Given the description of an element on the screen output the (x, y) to click on. 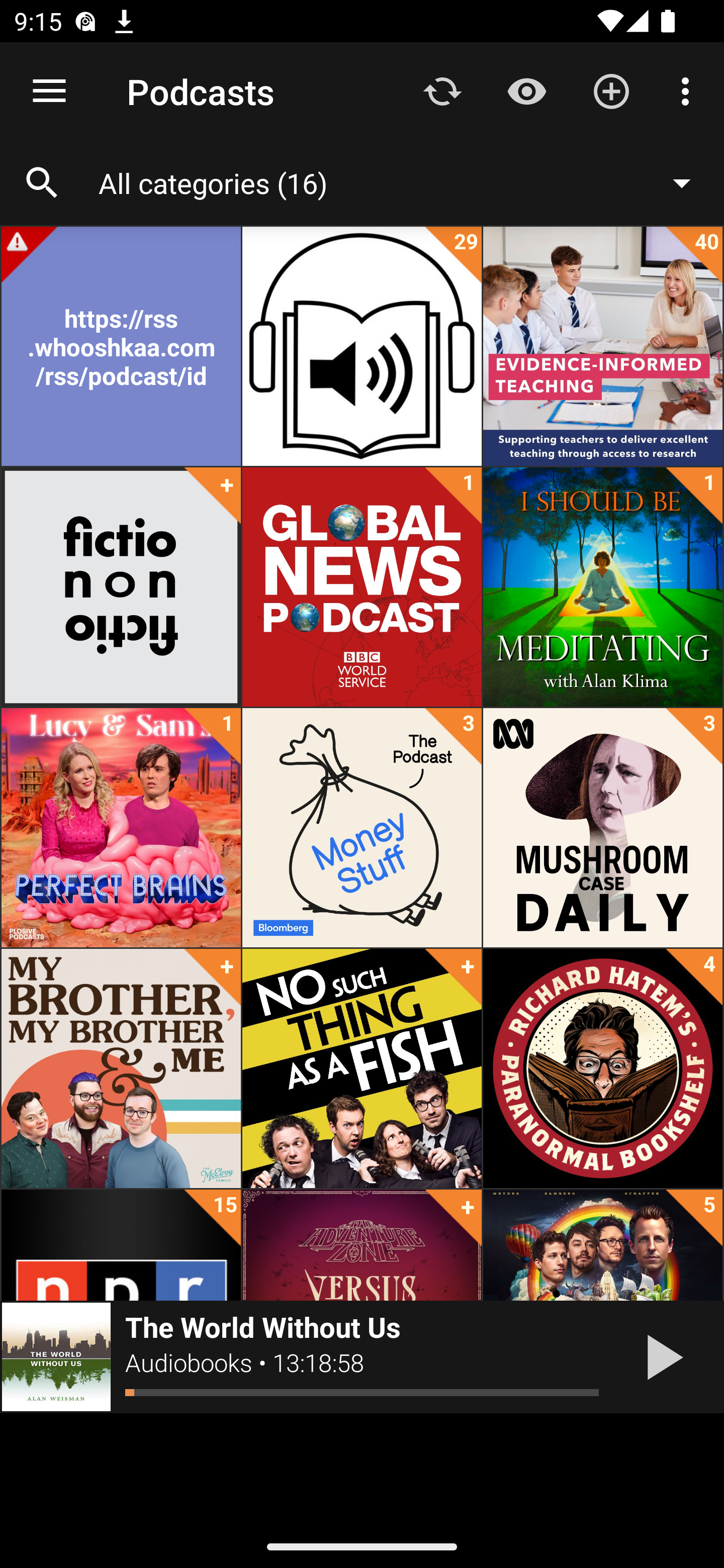
Open navigation sidebar (49, 91)
Update (442, 90)
Show / Hide played content (526, 90)
Add new Podcast (611, 90)
More options (688, 90)
Search (42, 183)
All categories (16) (404, 182)
https://rss.whooshkaa.com/rss/podcast/id/5884 (121, 346)
Audiobooks 29 (361, 346)
fiction/non/fiction + (121, 587)
Global News Podcast 1 (361, 587)
Lucy & Sam's Perfect Brains 1 (121, 827)
Money Stuff: The Podcast 3 (361, 827)
Mushroom Case Daily 3 (602, 827)
My Brother, My Brother And Me + (121, 1068)
No Such Thing As A Fish + (361, 1068)
Richard Hatem's Paranormal Bookshelf 4 (602, 1068)
Play / Pause (660, 1356)
